Given the description of an element on the screen output the (x, y) to click on. 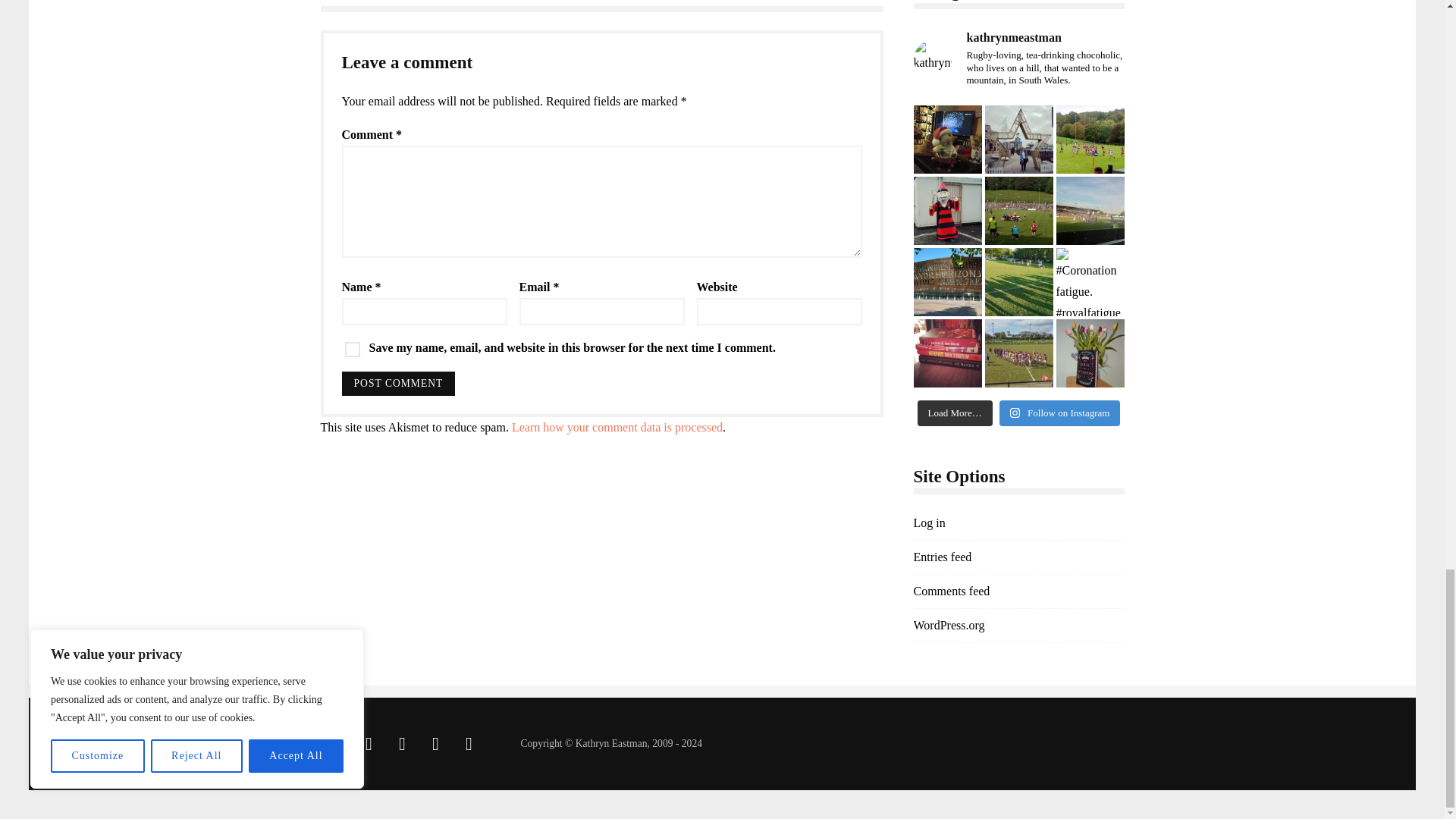
Post Comment (397, 383)
yes (351, 349)
